Given the description of an element on the screen output the (x, y) to click on. 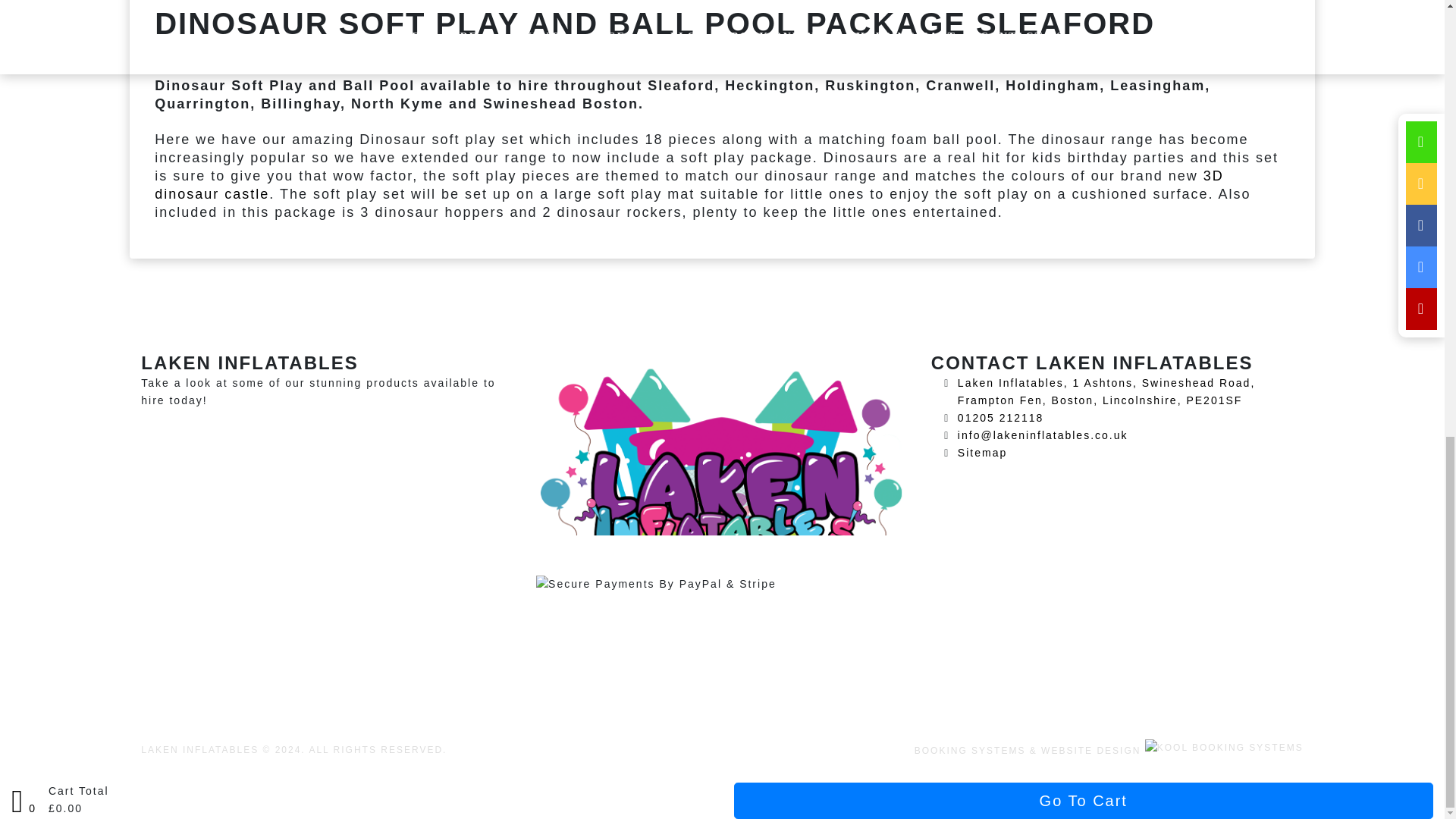
Send us an email! (1043, 435)
Sitemap (982, 452)
Call us today! (1000, 417)
Our address (1106, 391)
